Given the description of an element on the screen output the (x, y) to click on. 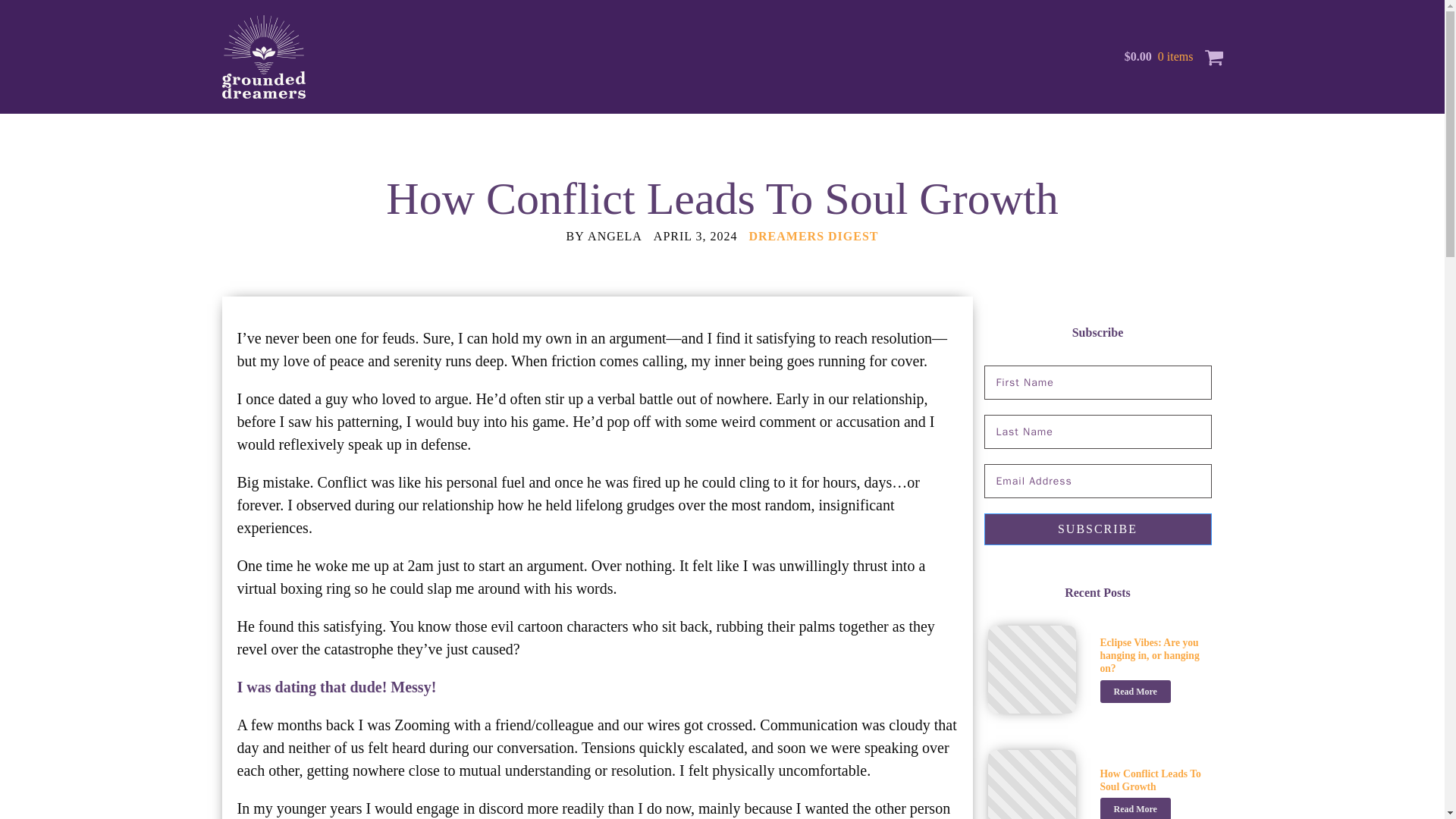
DREAMERS DIGEST (814, 236)
Read More (1134, 808)
Read More (1134, 691)
Eclipse Vibes: Are you hanging in, or hanging on? (1153, 655)
How Conflict Leads To Soul Growth (1153, 780)
SUBSCRIBE (1097, 529)
